Given the description of an element on the screen output the (x, y) to click on. 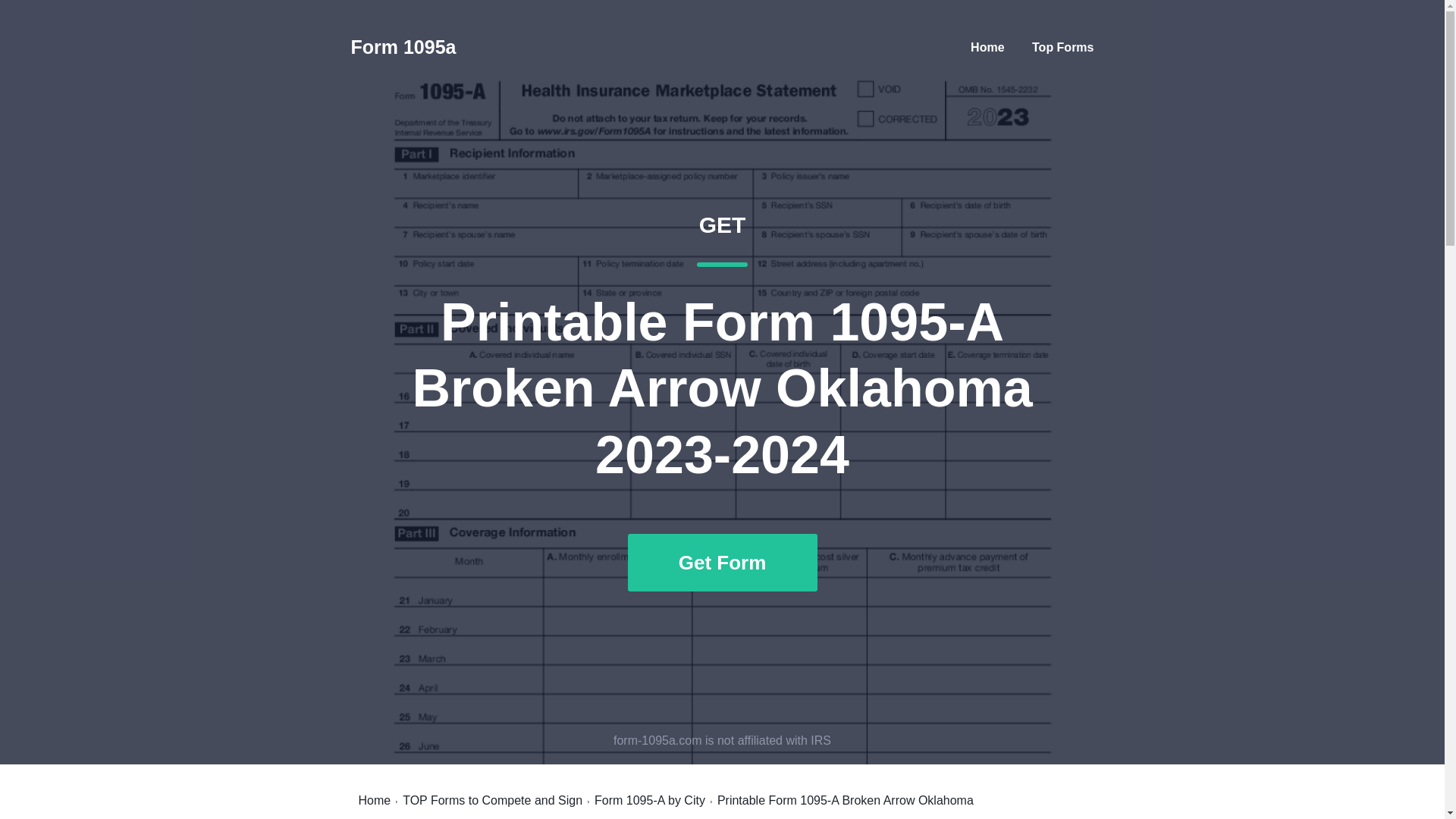
Form 1095-A by City (649, 800)
TOP Forms to Compete and Sign (492, 800)
Top Forms (1062, 47)
Home (987, 47)
Home (374, 800)
Form 1095a (402, 46)
